Given the description of an element on the screen output the (x, y) to click on. 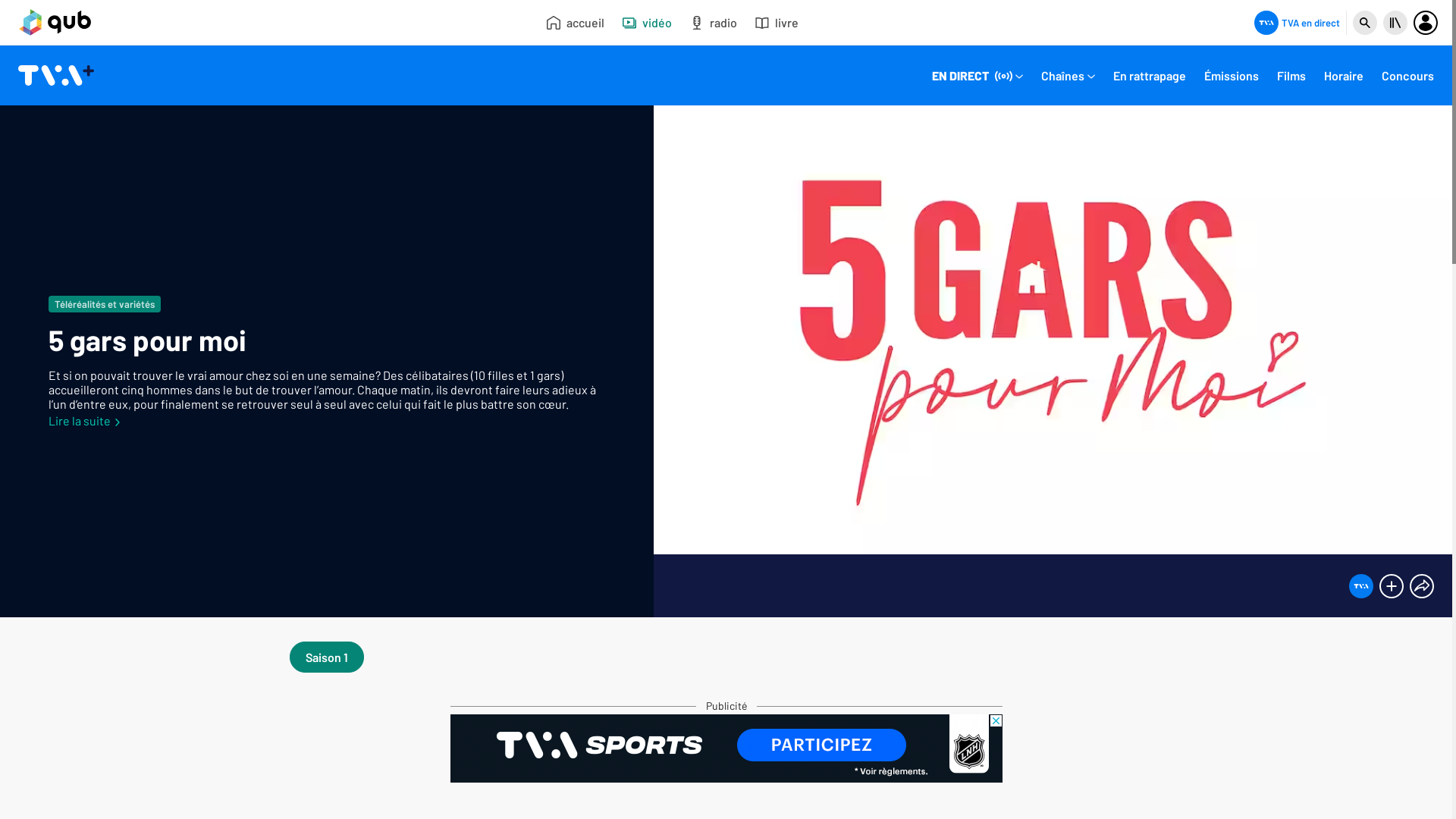
Lire la suite Element type: text (84, 420)
Partager Element type: hover (1421, 586)
TVA en direct Element type: text (1296, 22)
3rd party ad content Element type: hover (726, 748)
livre Element type: text (776, 21)
Films Element type: text (1291, 77)
EN DIRECT Element type: text (976, 76)
Horaire Element type: text (1343, 77)
En rattrapage Element type: text (1149, 77)
accueil Element type: text (575, 21)
radio Element type: text (713, 21)
Concours Element type: text (1407, 77)
Saison 1 Element type: text (326, 656)
